Given the description of an element on the screen output the (x, y) to click on. 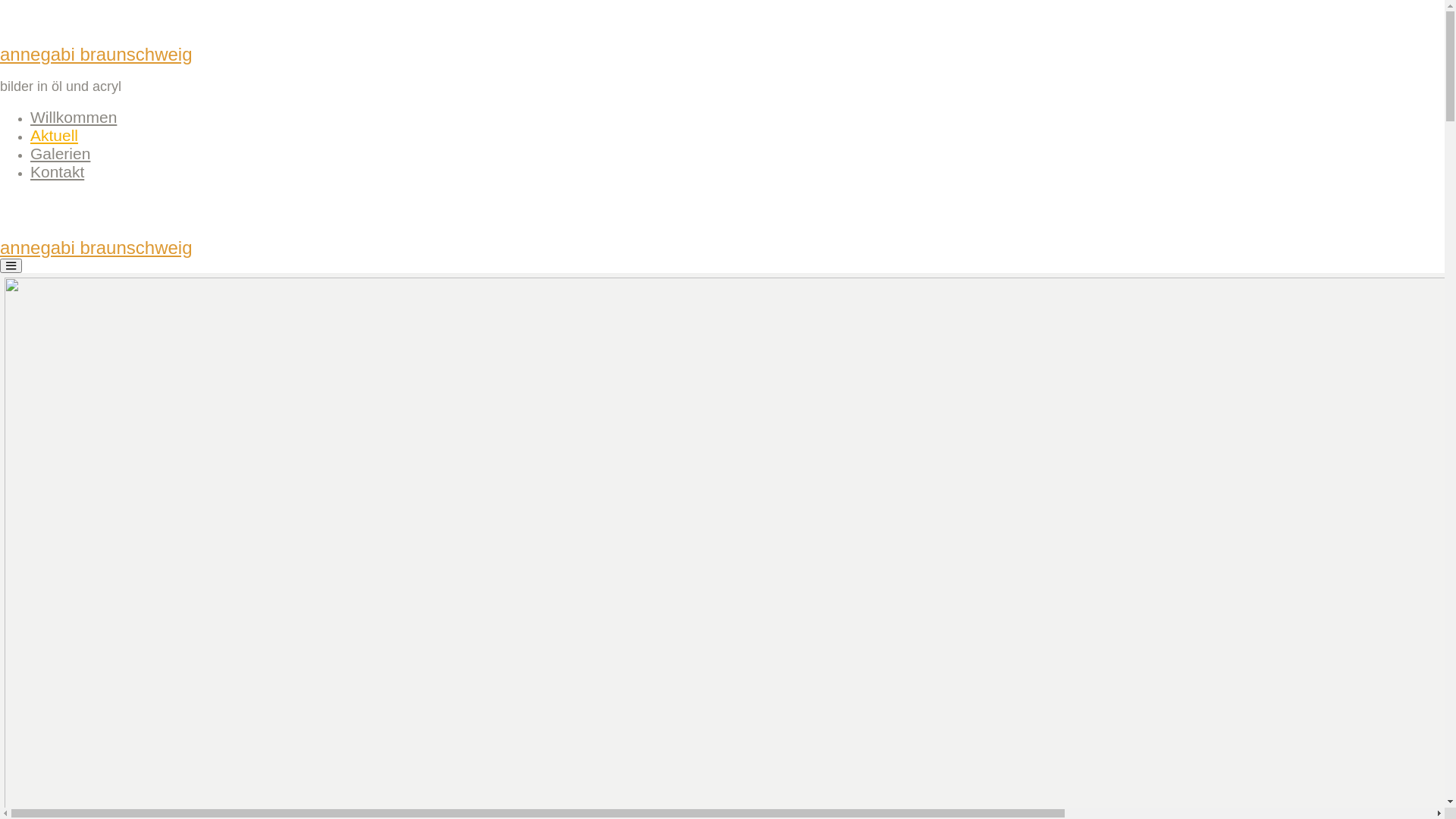
Galerien Element type: text (60, 153)
Willkommen Element type: text (73, 116)
annegabi braunschweig Element type: text (96, 53)
Aktuell Element type: text (54, 135)
Kontakt Element type: text (57, 171)
annegabi braunschweig Element type: text (96, 247)
